Given the description of an element on the screen output the (x, y) to click on. 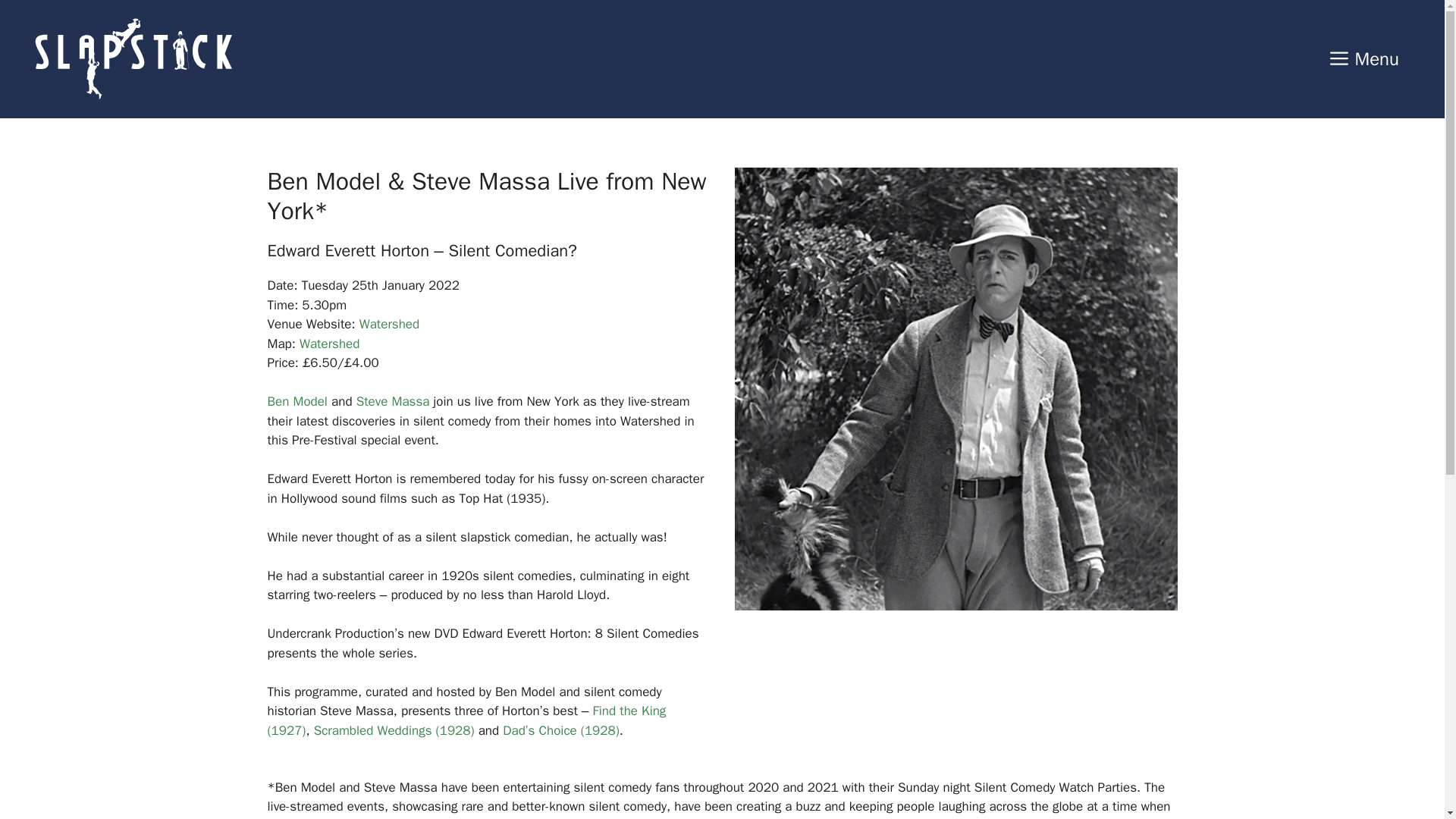
Menu (1363, 58)
Watershed (389, 324)
Steve Massa (392, 401)
Watershed (329, 343)
Ben Model (296, 401)
